Given the description of an element on the screen output the (x, y) to click on. 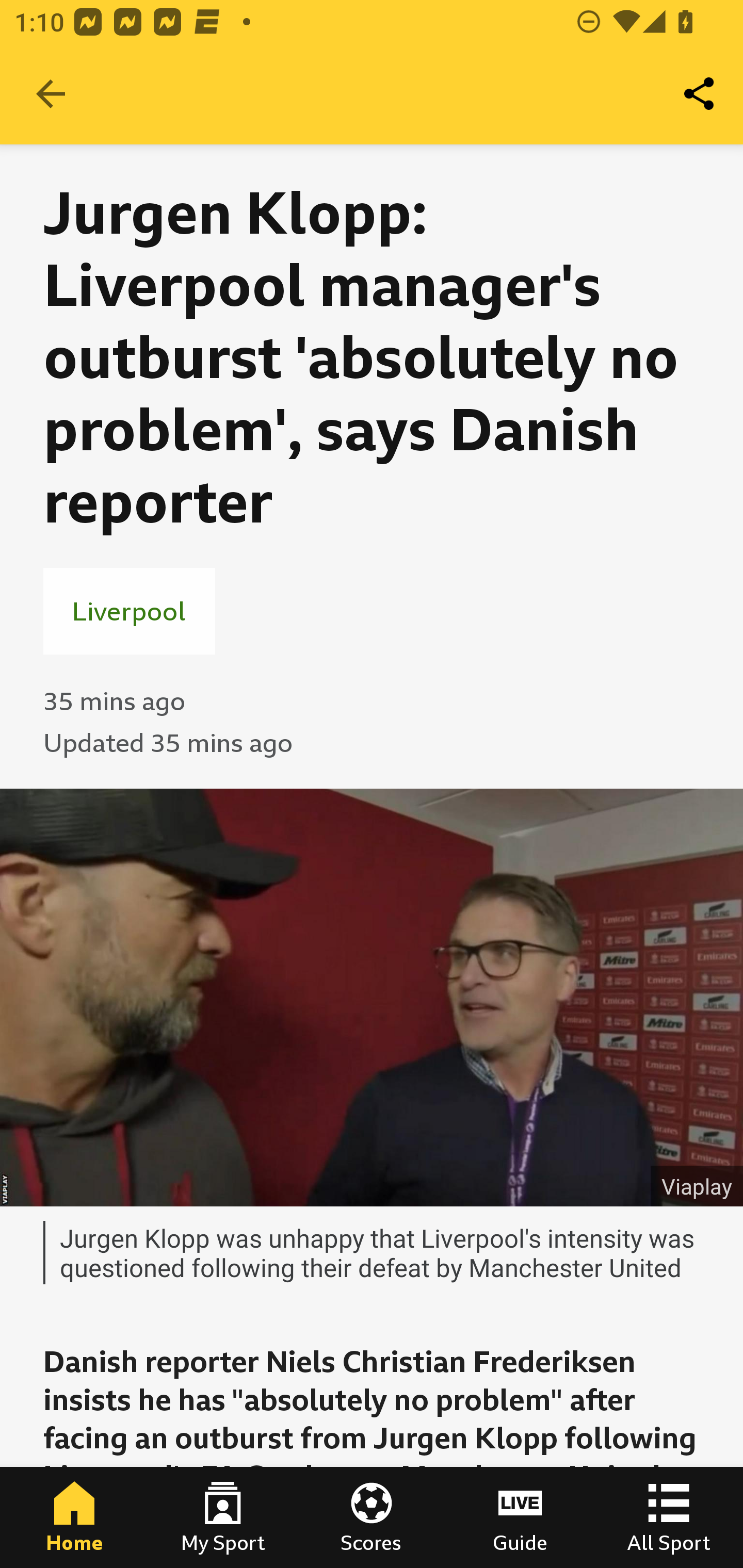
Navigate up (50, 93)
Share (699, 93)
Liverpool (129, 610)
My Sport (222, 1517)
Scores (371, 1517)
Guide (519, 1517)
All Sport (668, 1517)
